Given the description of an element on the screen output the (x, y) to click on. 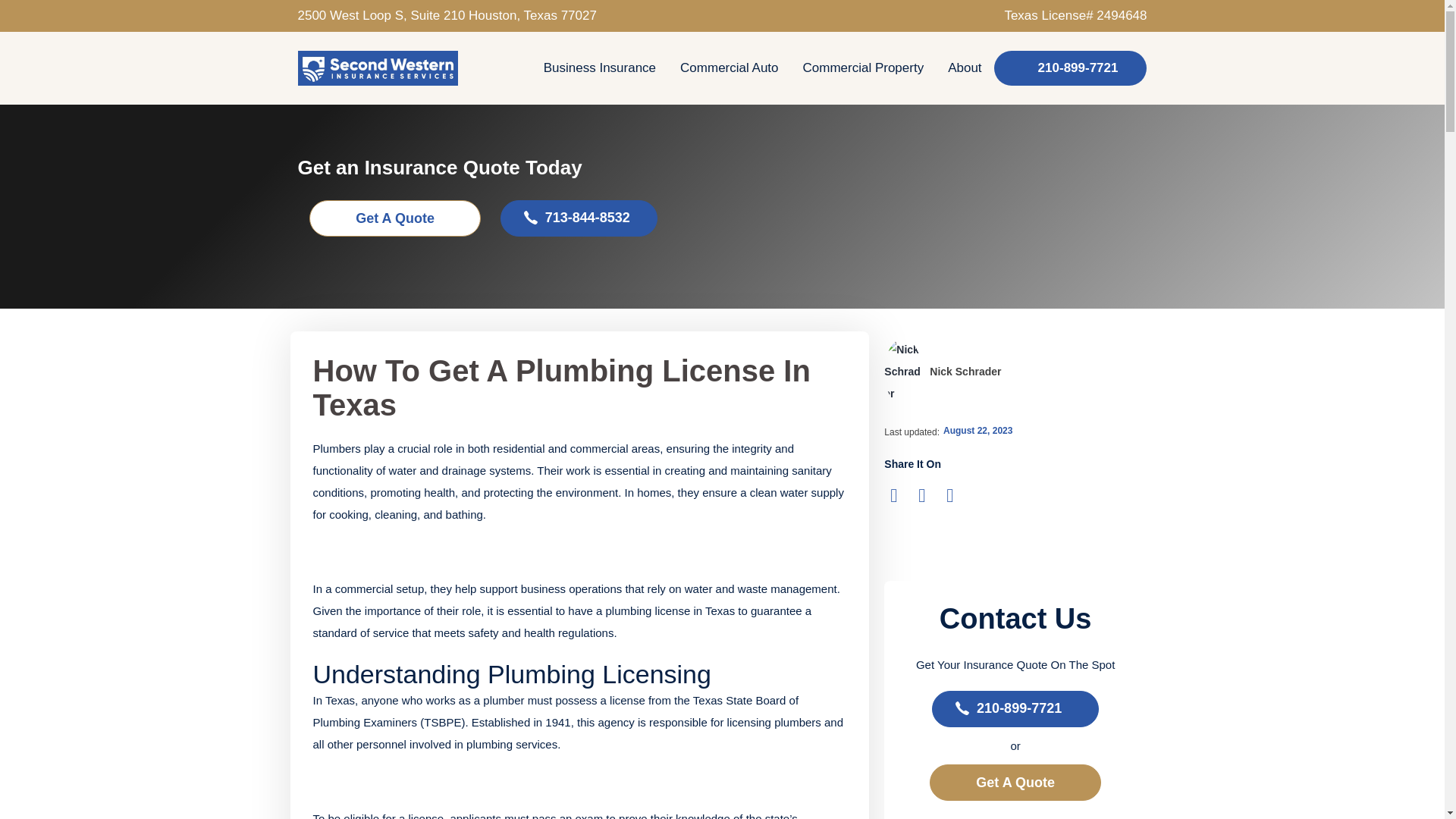
210-899-7721 (1070, 67)
Commercial Auto (729, 67)
About (964, 67)
Business Insurance (599, 67)
Commercial Property (863, 67)
